Given the description of an element on the screen output the (x, y) to click on. 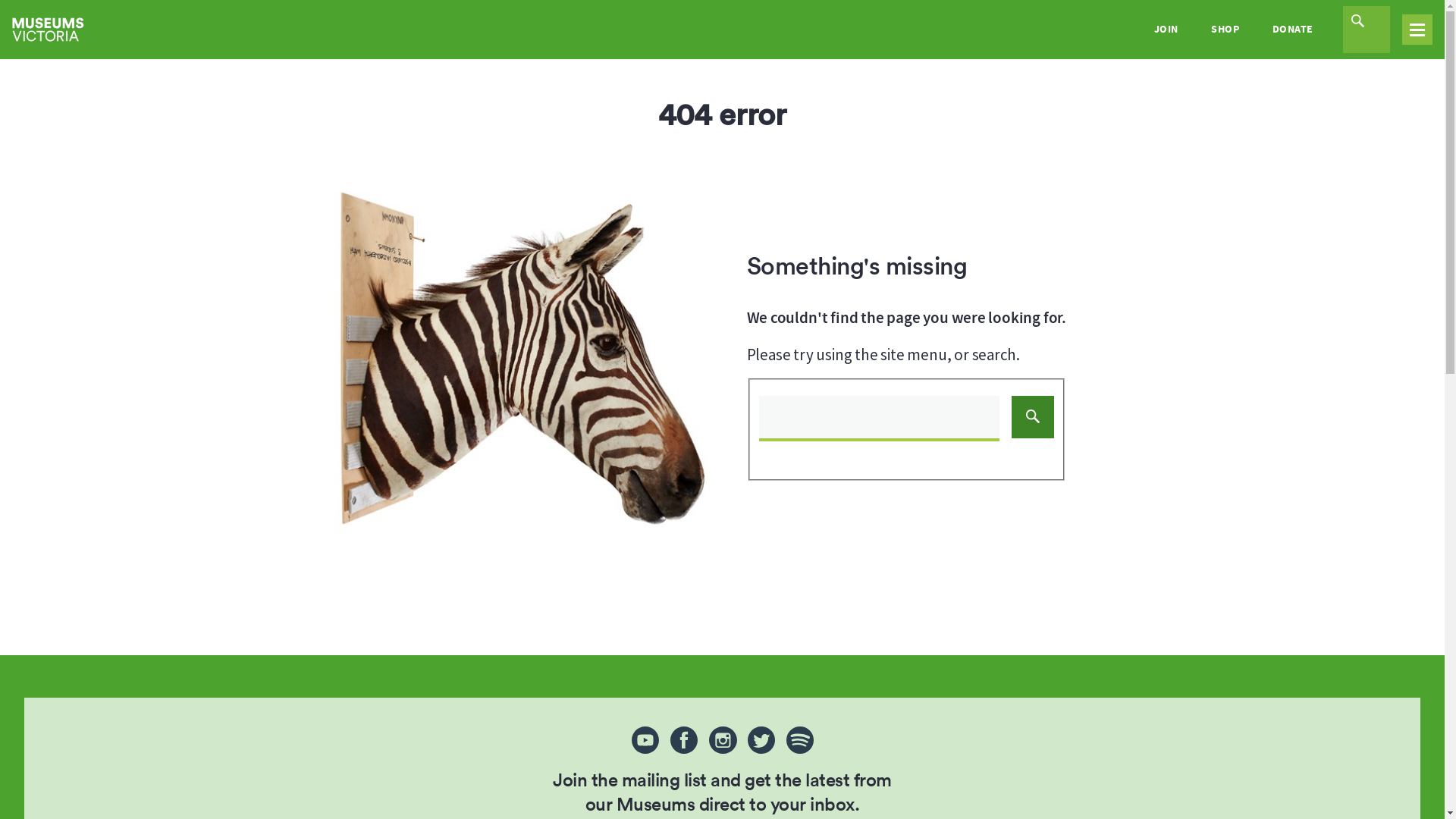
Menu Element type: text (1417, 29)
Museums Victoria
Back to home Element type: text (48, 29)
SHOP Element type: text (1225, 29)
DONATE Element type: text (1292, 29)
Search Element type: text (904, 425)
JOIN Element type: text (1166, 29)
Search Element type: text (1032, 416)
